Given the description of an element on the screen output the (x, y) to click on. 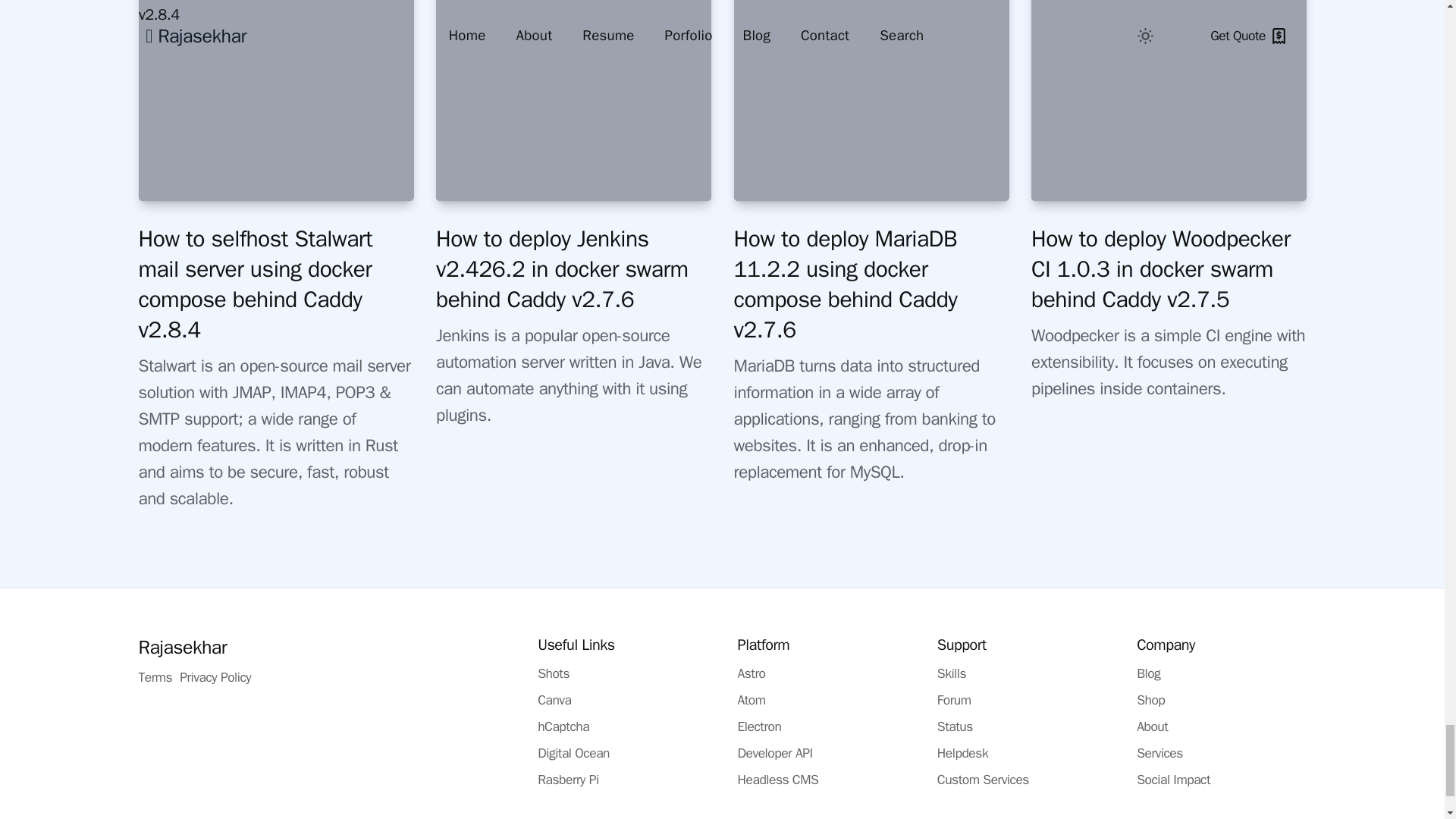
Astro (750, 673)
Headless CMS (777, 779)
Shots (553, 673)
Rajasekhar (182, 646)
Developer API (774, 752)
Privacy Policy (214, 677)
Digital Ocean (573, 752)
hCaptcha (563, 726)
